Given the description of an element on the screen output the (x, y) to click on. 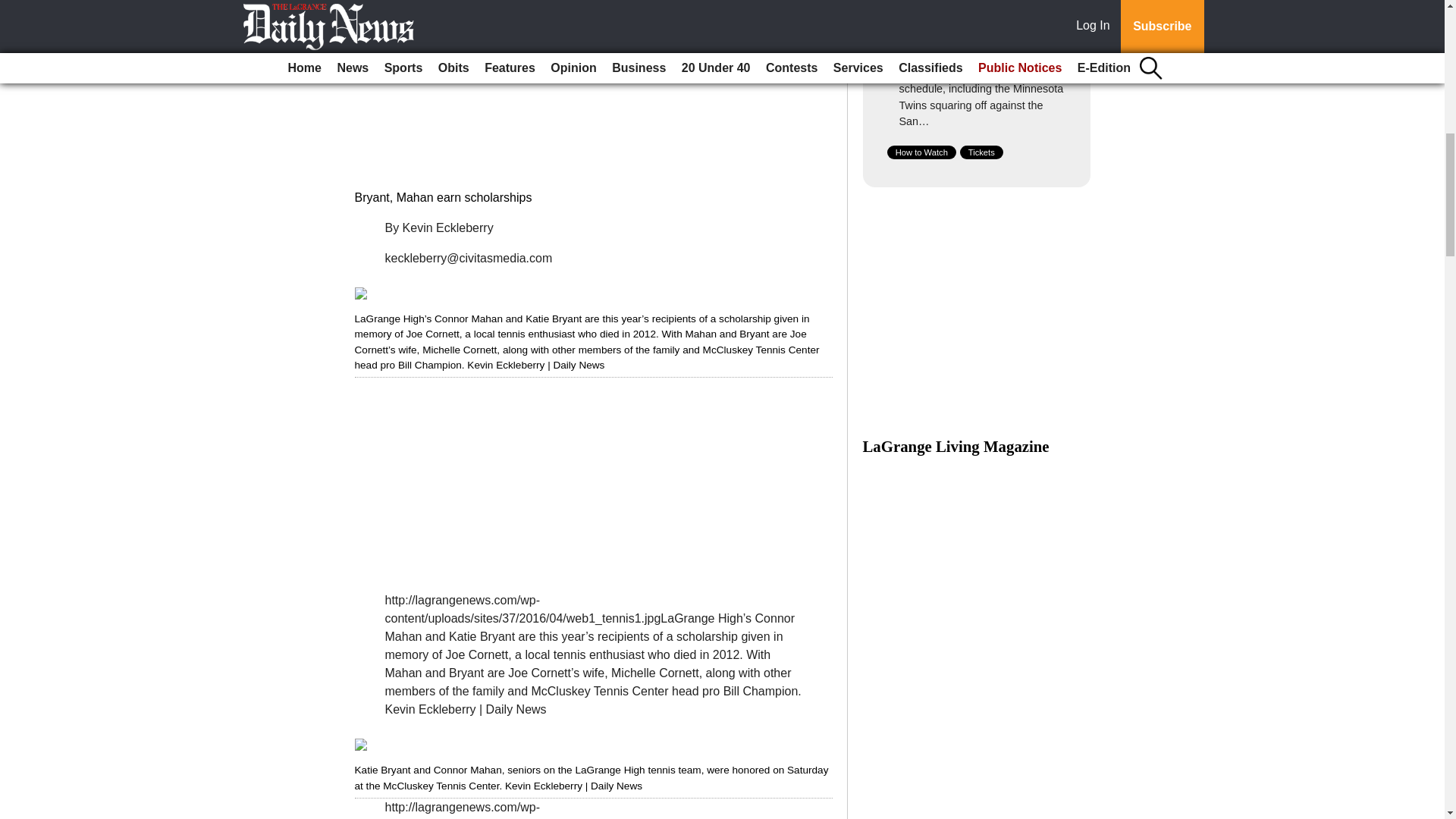
How to Watch (921, 151)
Tickets (981, 151)
